Given the description of an element on the screen output the (x, y) to click on. 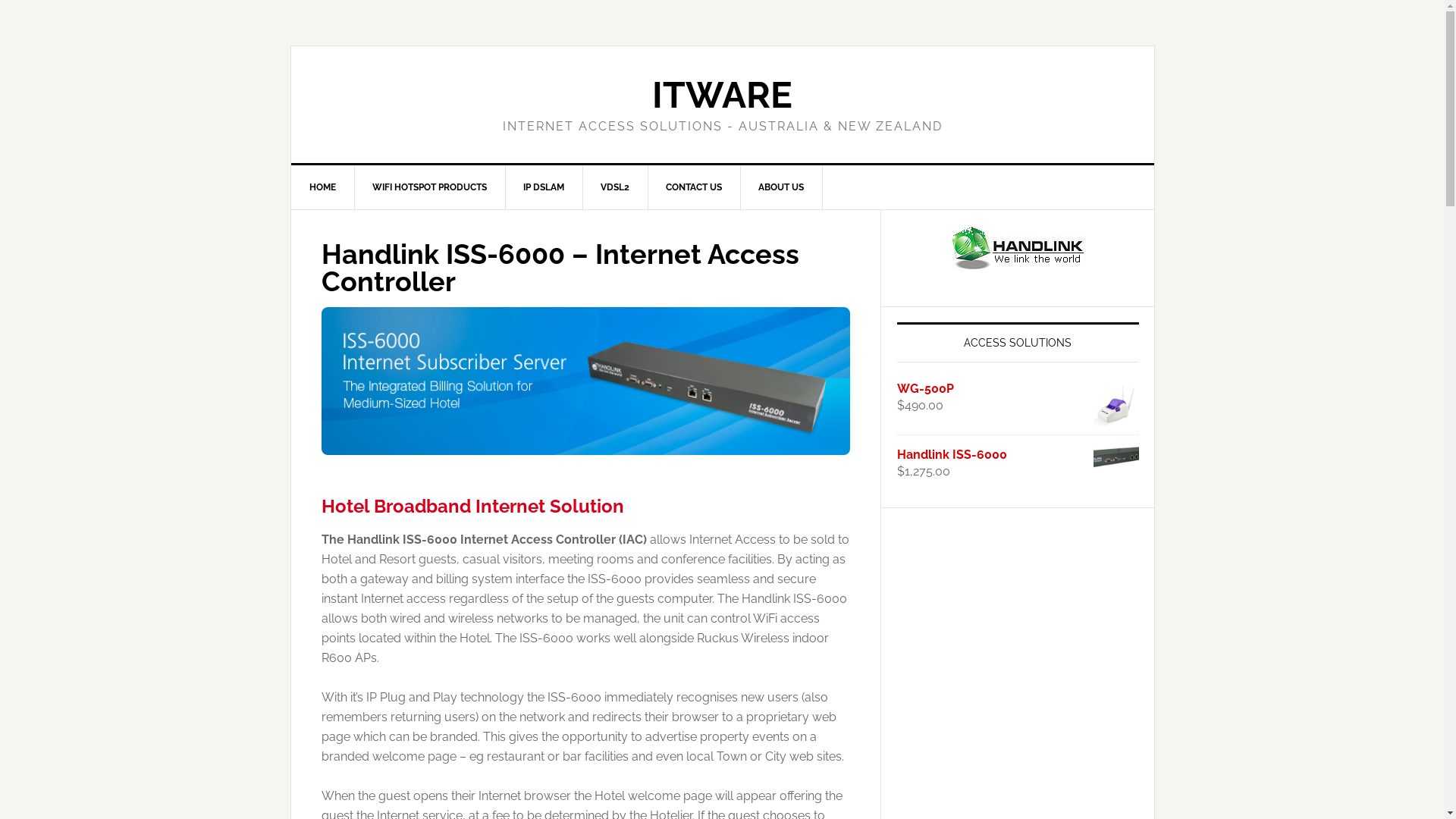
WG-500P Element type: text (1017, 388)
HOME Element type: text (322, 187)
Handlink ISS-6000 Element type: text (1017, 454)
ABOUT US Element type: text (781, 187)
WIFI HOTSPOT PRODUCTS Element type: text (429, 187)
IP DSLAM Element type: text (544, 187)
ITWARE Element type: text (722, 94)
Skip to primary navigation Element type: text (0, 0)
VDSL2 Element type: text (615, 187)
CONTACT US Element type: text (693, 187)
